Given the description of an element on the screen output the (x, y) to click on. 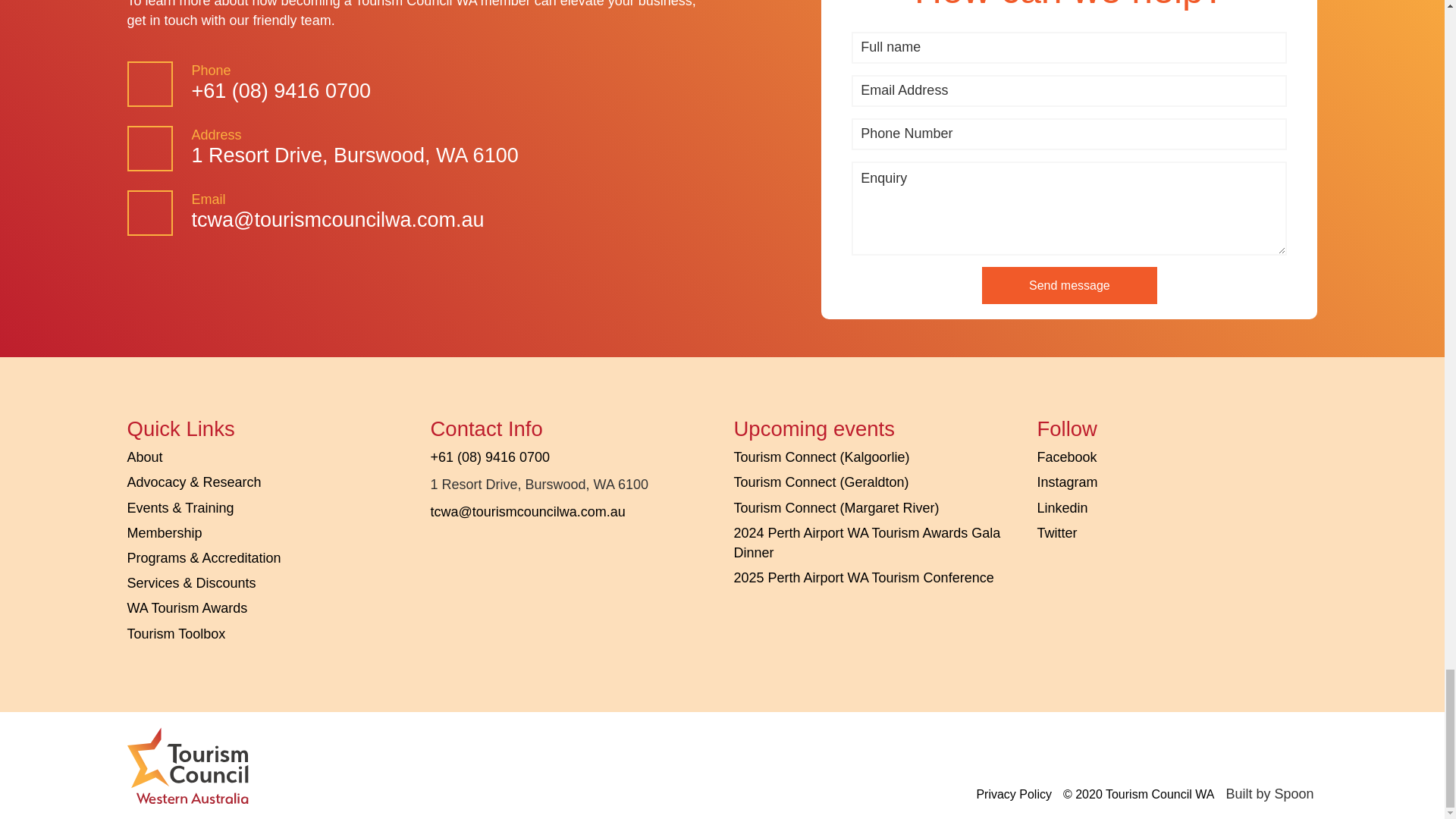
Web design and development using Drupal in Perth (1269, 793)
Home (188, 765)
